Given the description of an element on the screen output the (x, y) to click on. 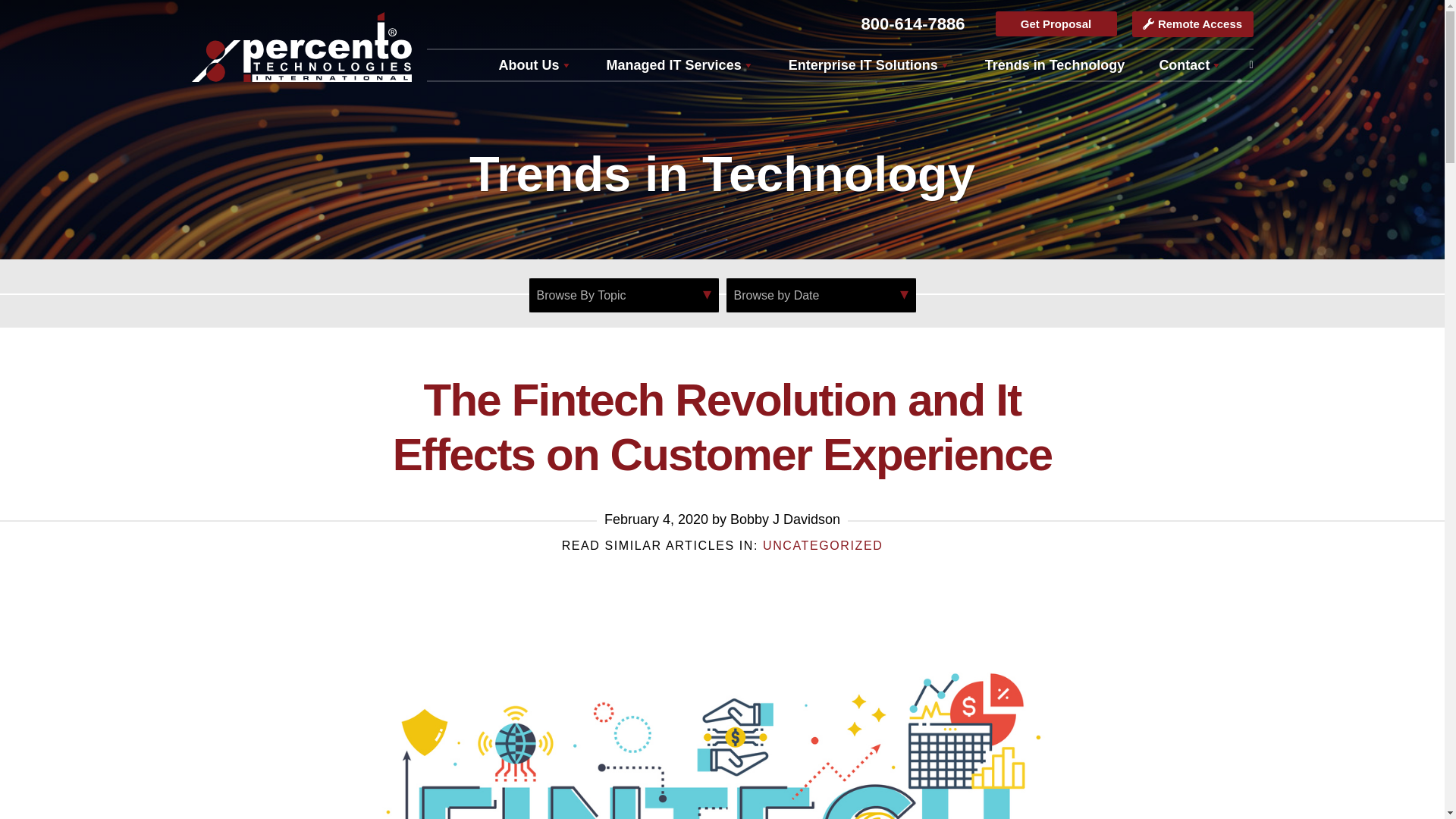
Remote Access (1191, 23)
800-614-7886 (911, 23)
Enterprise IT Solutions (869, 64)
About Us (535, 64)
Managed IT Services (679, 64)
Get Proposal (1055, 23)
